Given the description of an element on the screen output the (x, y) to click on. 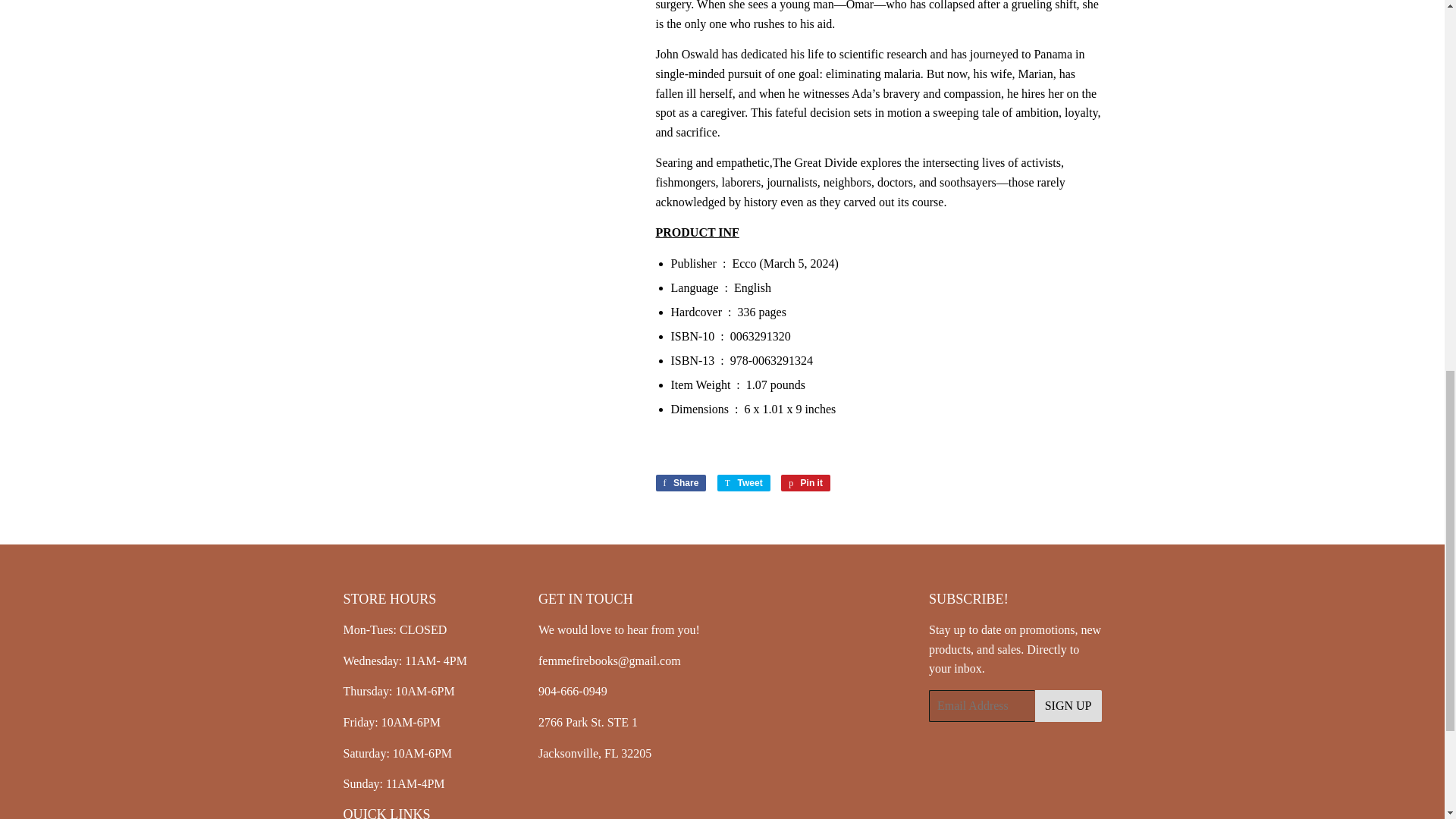
Tweet on Twitter (743, 483)
Pin on Pinterest (804, 483)
Share on Facebook (680, 483)
